Given the description of an element on the screen output the (x, y) to click on. 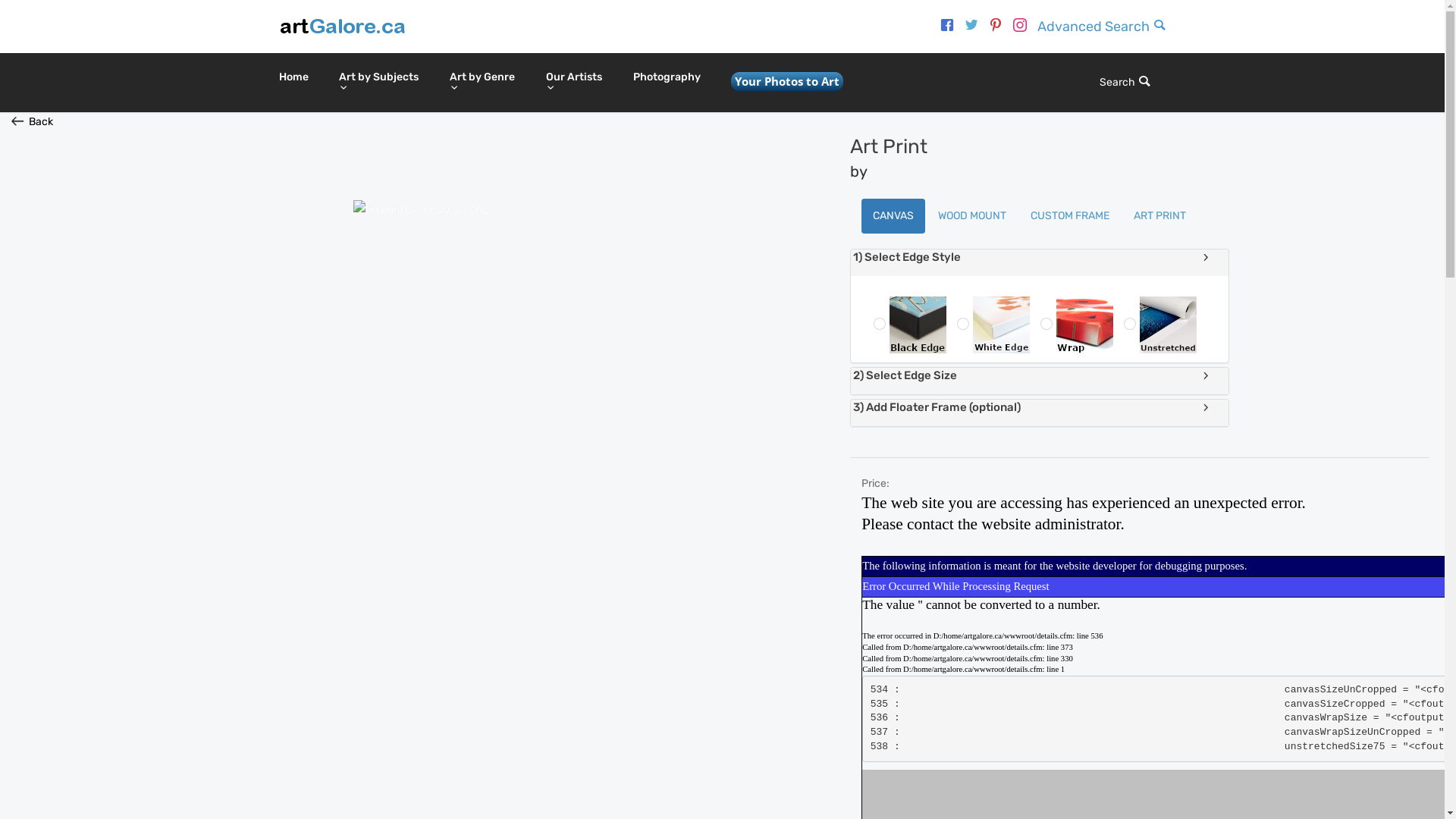
Home Element type: text (293, 77)
 3) Add Floater Frame (optional) Element type: text (1039, 406)
CANVAS Element type: text (893, 215)
Photography Element type: text (665, 77)
 2) Select Edge Size Element type: text (1039, 374)
Black Element type: text (863, 298)
ART PRINT Element type: text (1159, 215)
Art by Subjects Element type: text (378, 82)
 1) Select Edge Style Element type: text (1039, 256)
Advanced Search Element type: text (1101, 26)
Art by Genre Element type: text (481, 82)
Search Element type: text (1125, 81)
WOOD MOUNT Element type: text (971, 215)
White Element type: text (946, 298)
CUSTOM FRAME Element type: text (1069, 215)
Our Artists Element type: text (574, 82)
Back Element type: text (32, 121)
Wrapped Element type: text (1030, 298)
